Given the description of an element on the screen output the (x, y) to click on. 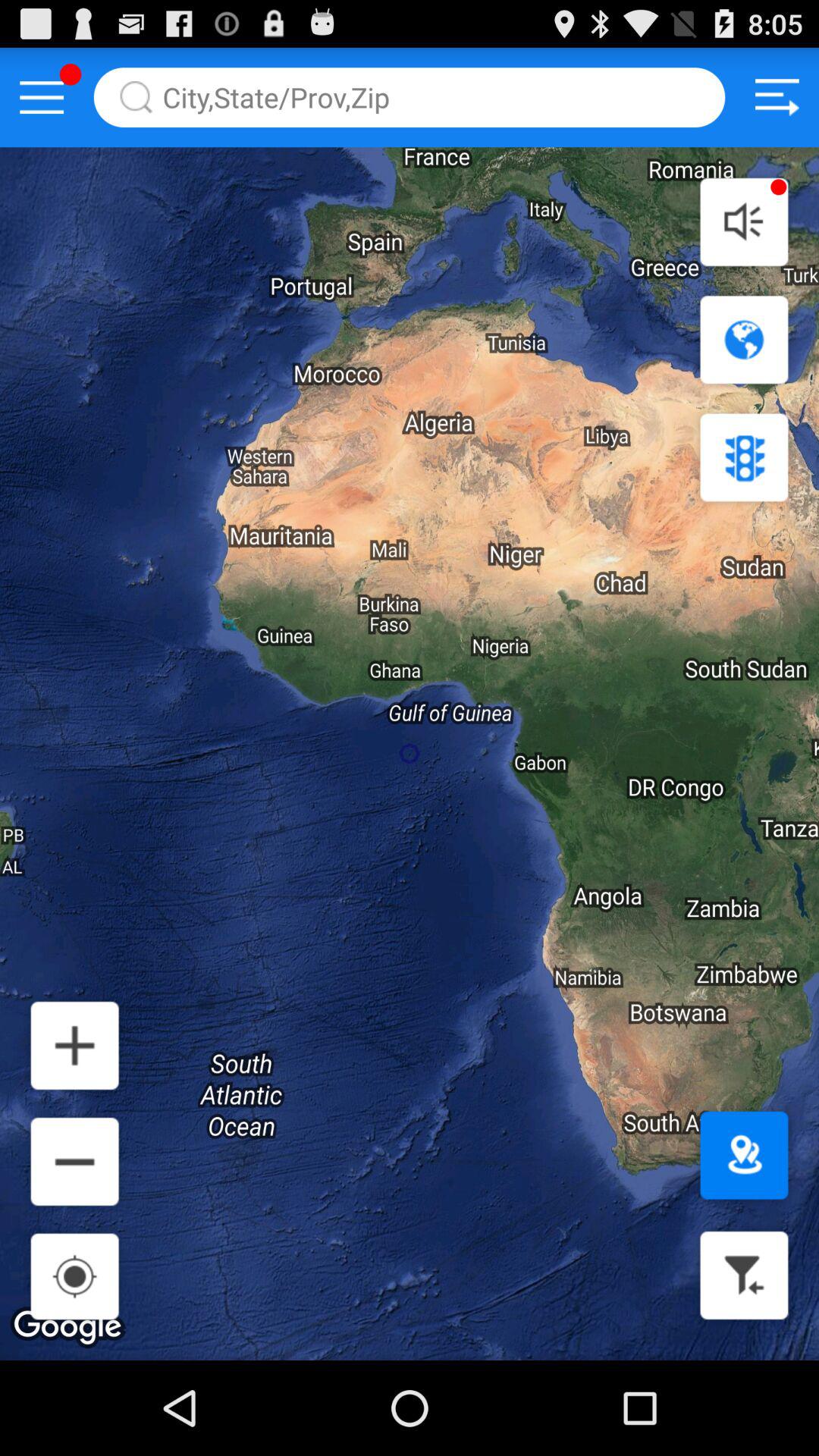
filter search (744, 1275)
